Given the description of an element on the screen output the (x, y) to click on. 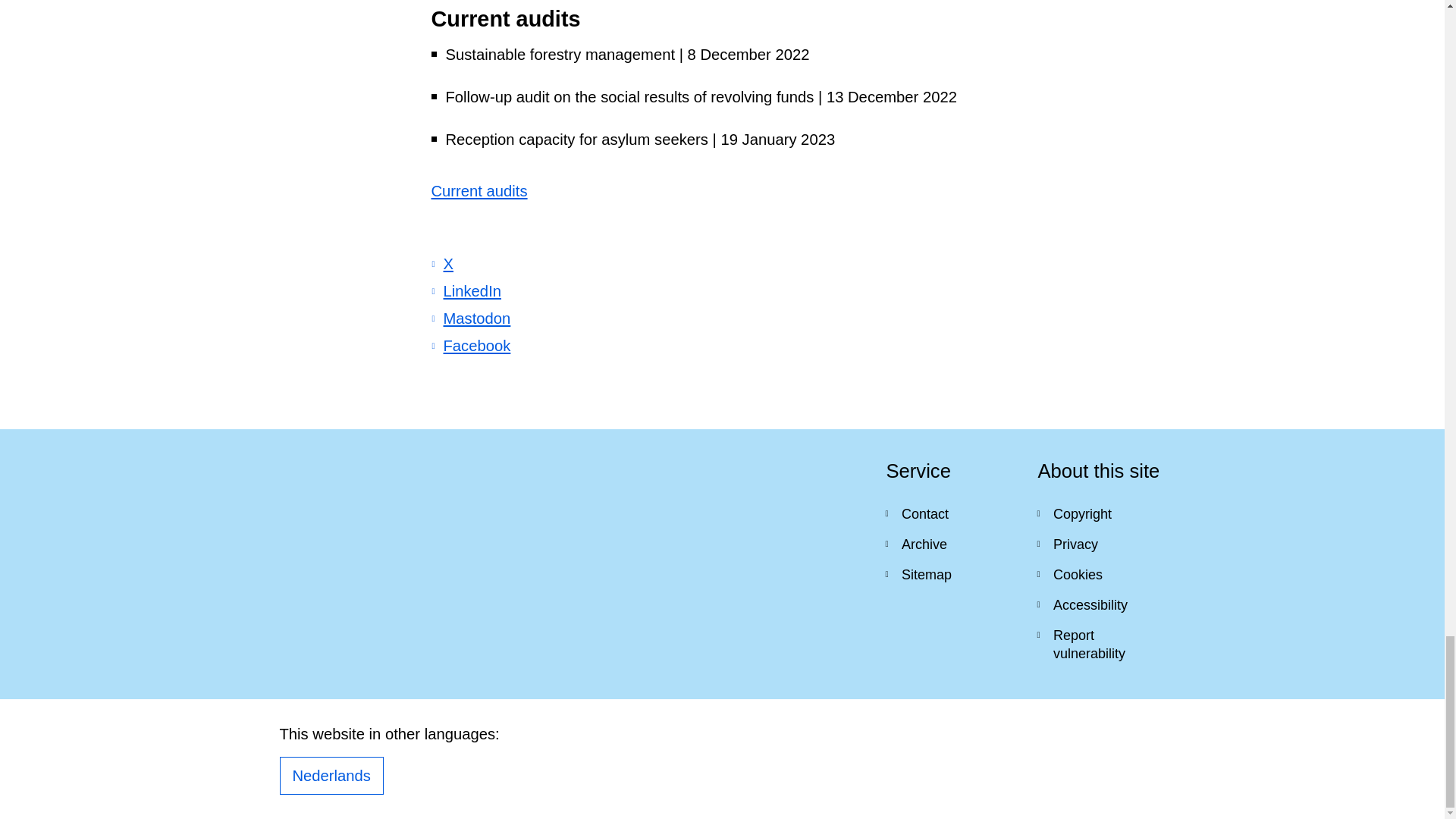
Mastodon (470, 318)
Facebook (470, 345)
Copyright (1100, 513)
Accessibility (1100, 604)
LinkedIn (465, 290)
Current audits (478, 190)
Archive (949, 544)
Cookies (1100, 574)
Privacy (1100, 544)
Nederlands (330, 775)
